Given the description of an element on the screen output the (x, y) to click on. 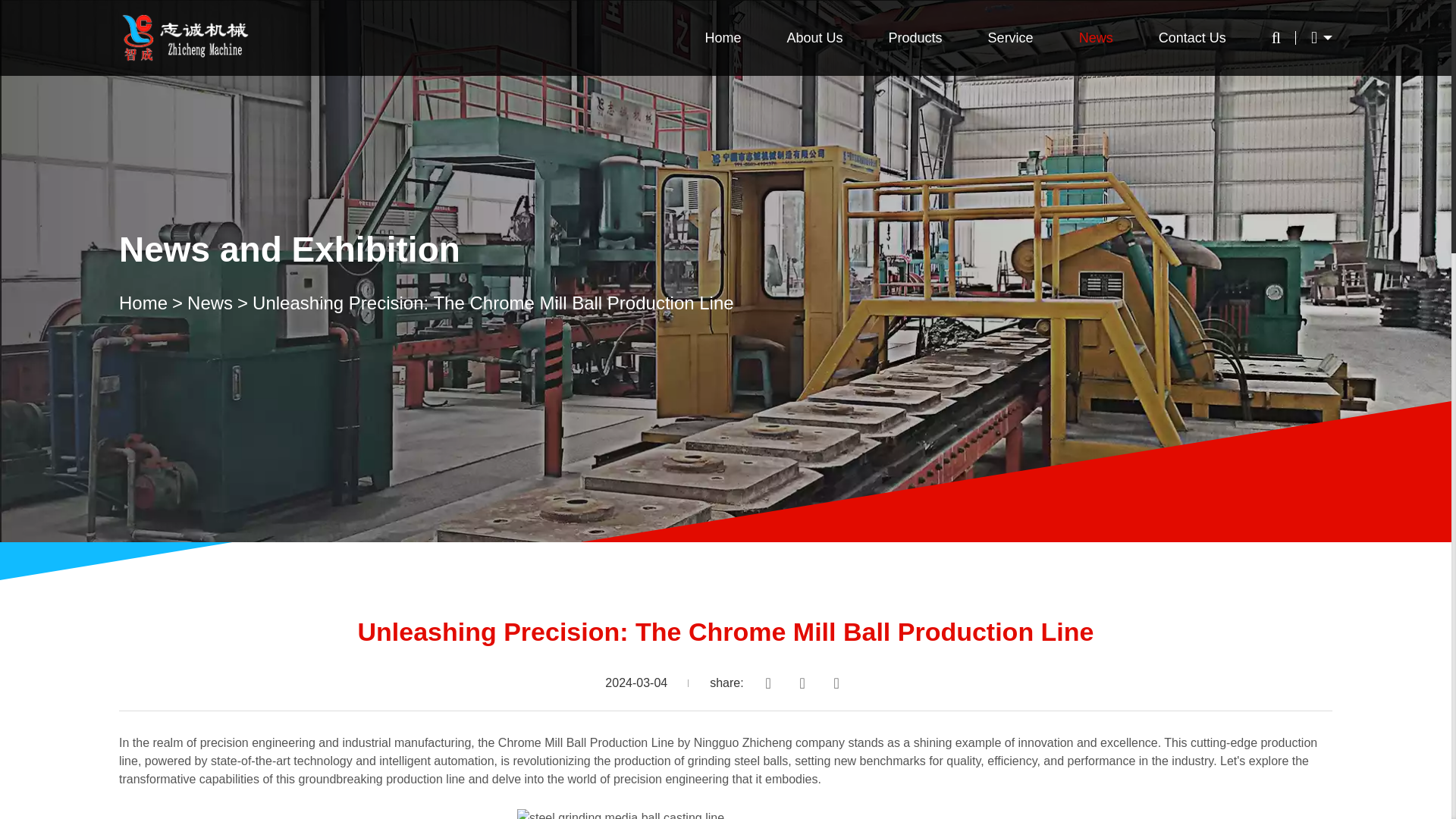
Contact Us (1191, 38)
search (885, 133)
Home (153, 302)
Unleashing Precision: The Chrome Mill Ball Production Line (492, 302)
News (219, 302)
